Given the description of an element on the screen output the (x, y) to click on. 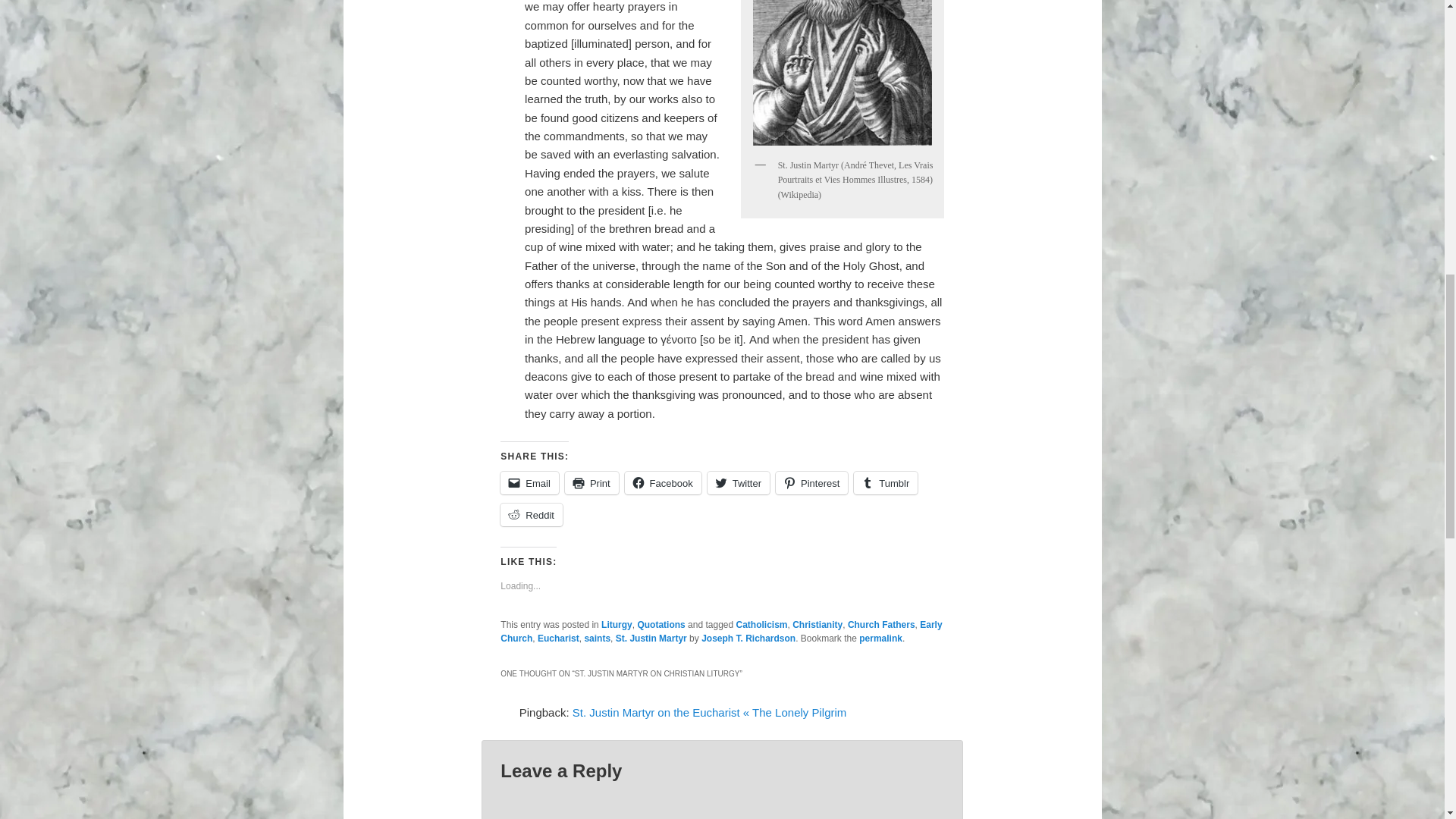
Click to email a link to a friend (529, 482)
Early Church (721, 631)
Tumblr (885, 482)
Click to share on Reddit (531, 514)
Click to print (591, 482)
Quotations (660, 624)
Liturgy (616, 624)
Justin Martyr (842, 75)
Catholicism (761, 624)
Reddit (531, 514)
Click to share on Facebook (662, 482)
Click to share on Pinterest (811, 482)
Click to share on Tumblr (885, 482)
Christianity (817, 624)
Click to share on Twitter (738, 482)
